Given the description of an element on the screen output the (x, y) to click on. 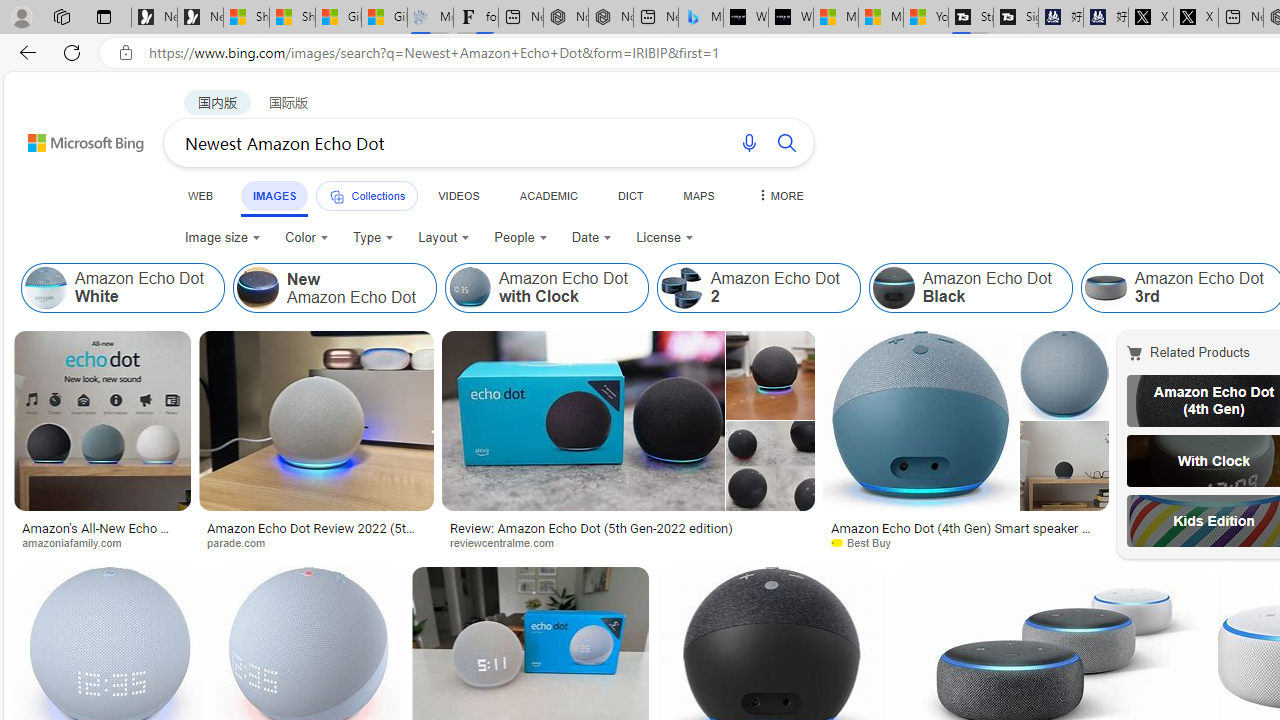
Date (591, 237)
License (665, 237)
People (520, 237)
New Amazon Echo Dot (257, 287)
Type (372, 237)
MAPS (698, 195)
WEB (201, 195)
Best Buy (965, 542)
Layout (443, 237)
Newsletter Sign Up (199, 17)
Layout (443, 237)
